Given the description of an element on the screen output the (x, y) to click on. 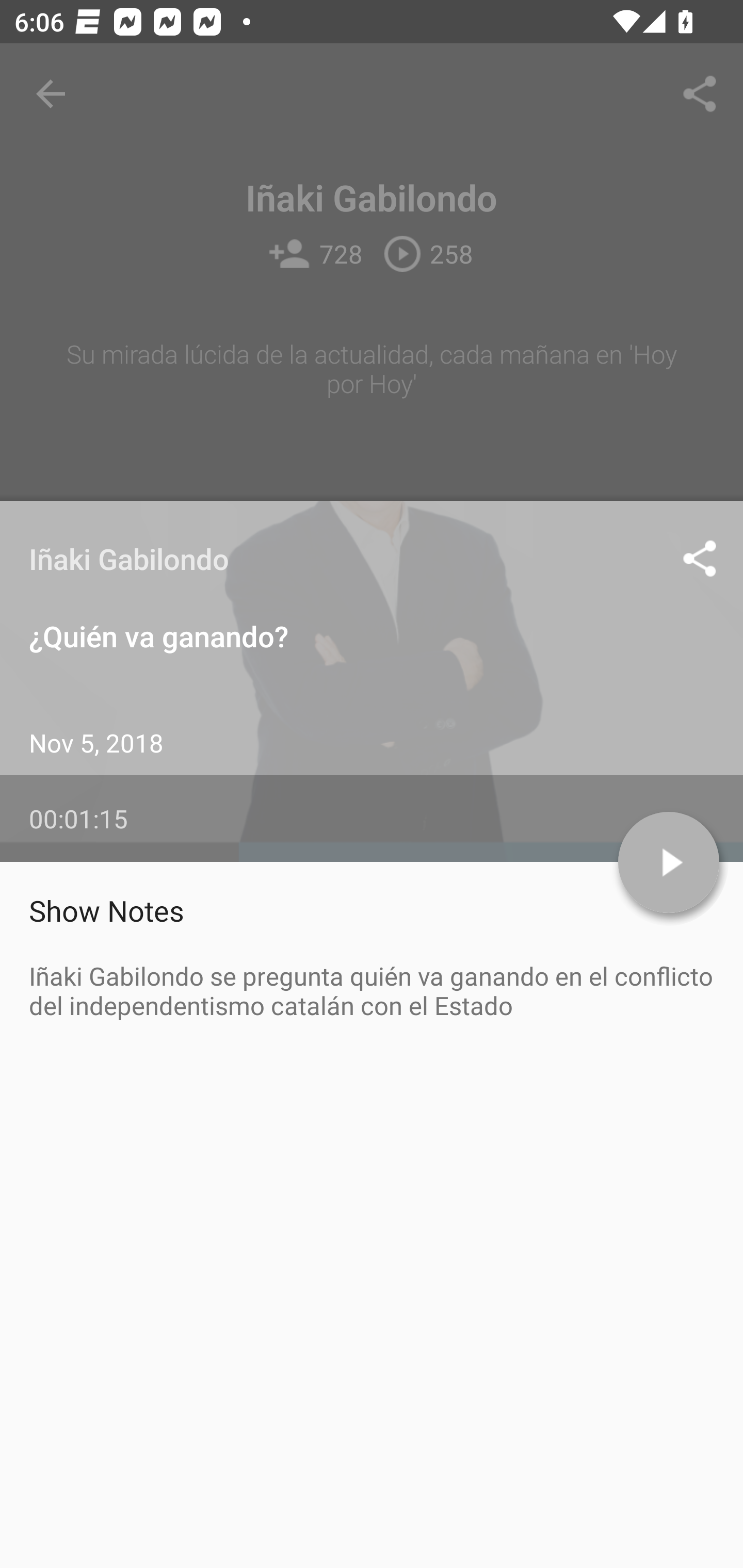
Navigate up (50, 93)
Share... (699, 93)
03/22 2019 Otro PSOE, otro Alfonso Guerra (371, 891)
03/22 2019 En el banquillo, con la batuta (371, 1011)
